Given the description of an element on the screen output the (x, y) to click on. 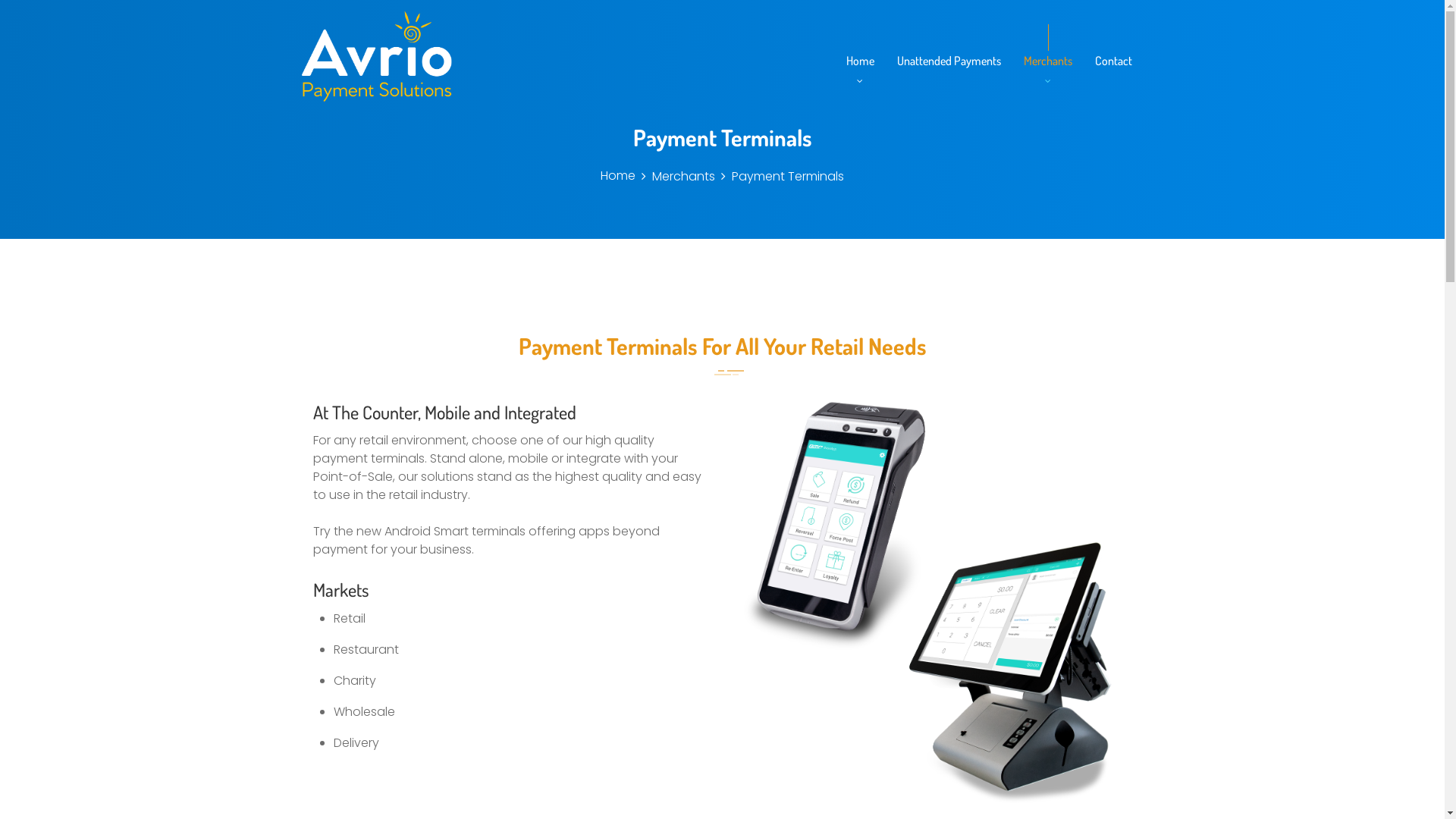
Merchants Element type: text (683, 176)
Contact Element type: text (1113, 60)
Home Element type: text (860, 60)
Merchants Element type: text (1047, 60)
Home Element type: text (617, 175)
Unattended Payments Element type: text (948, 60)
